Given the description of an element on the screen output the (x, y) to click on. 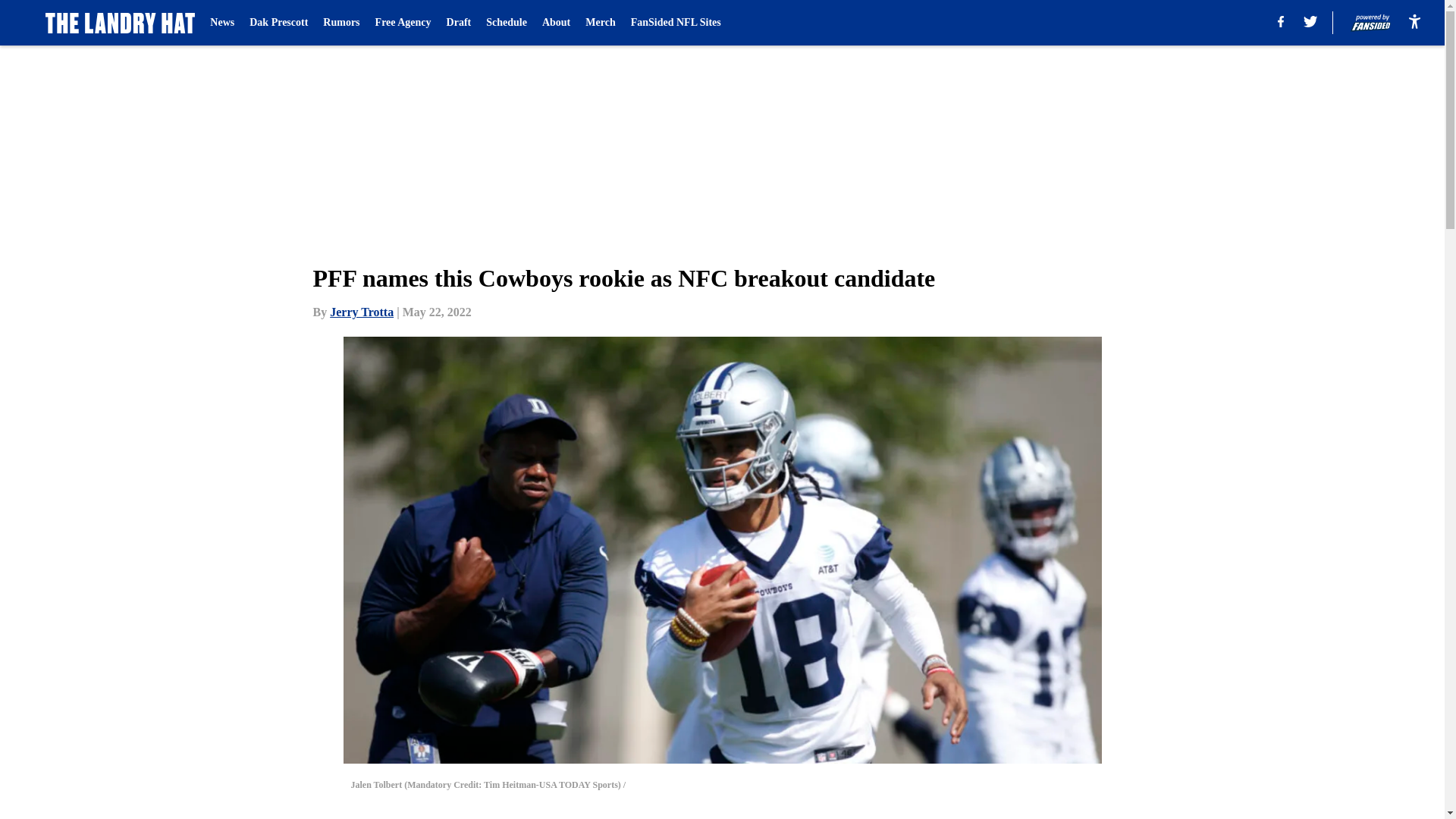
Rumors (341, 22)
Merch (599, 22)
Jerry Trotta (361, 311)
Draft (458, 22)
FanSided NFL Sites (675, 22)
News (221, 22)
Schedule (506, 22)
Dak Prescott (277, 22)
About (555, 22)
Free Agency (402, 22)
